Given the description of an element on the screen output the (x, y) to click on. 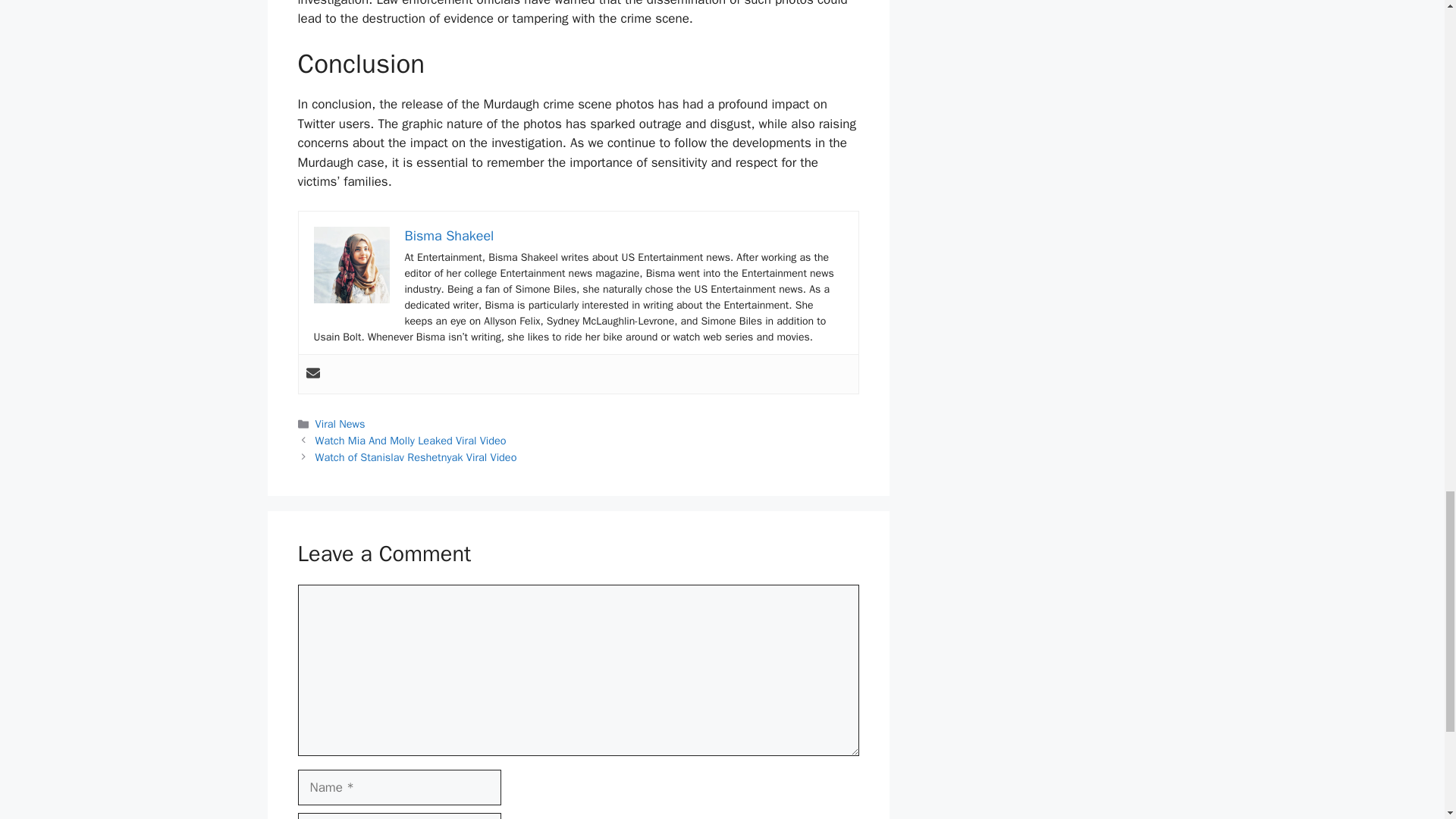
Watch Mia And Molly Leaked Viral Video (410, 440)
Viral News (340, 423)
Watch of Stanislav Reshetnyak Viral Video (415, 457)
Bisma Shakeel (449, 235)
